Given the description of an element on the screen output the (x, y) to click on. 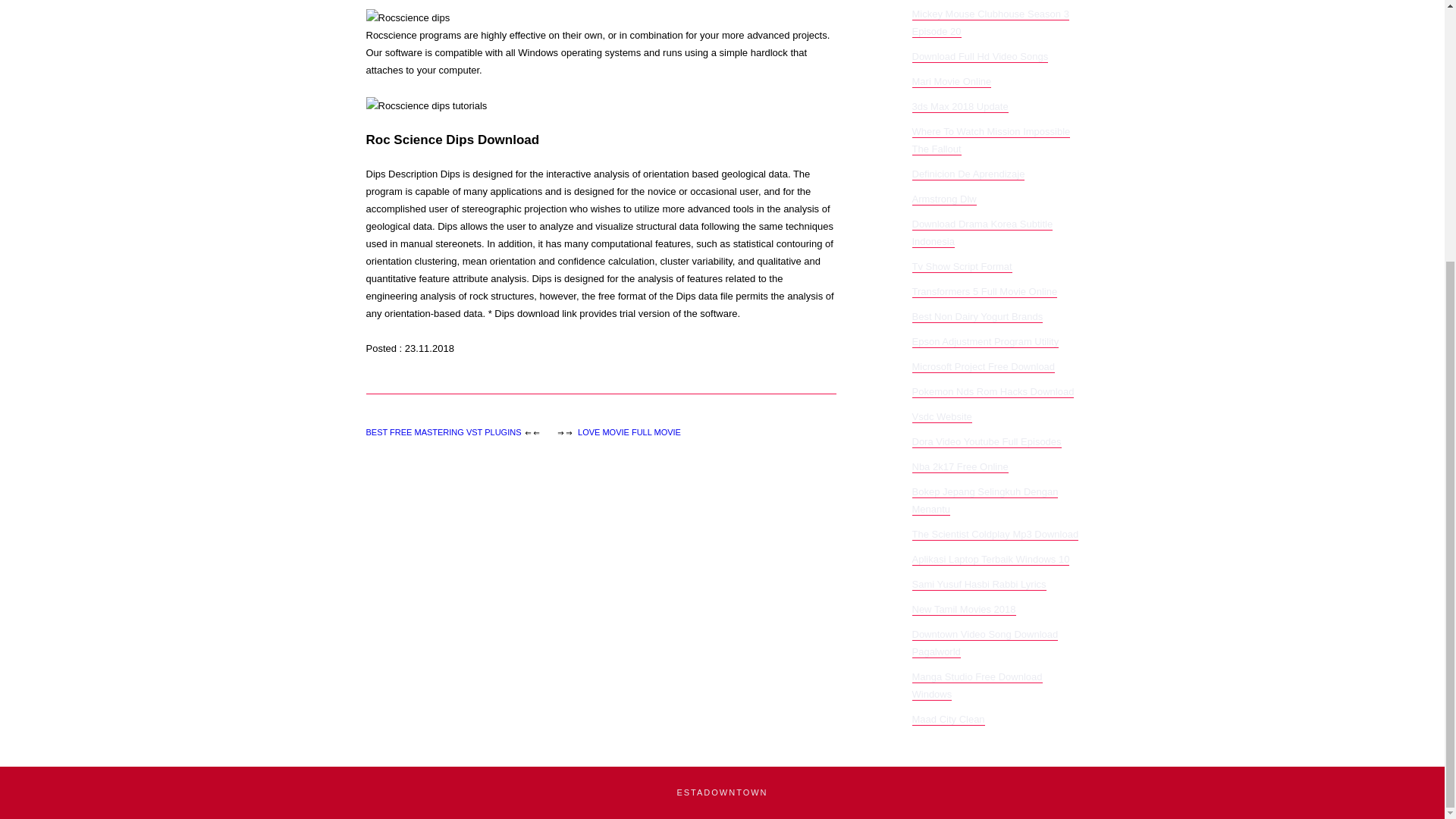
Sami Yusuf Hasbi Rabbi Lyrics (978, 584)
Definicion De Aprendizaje (968, 174)
Best Non Dairy Yogurt Brands (976, 316)
Transformers 5 Full Movie Online (984, 291)
LOVE MOVIE FULL MOVIE (629, 431)
Tv Show Script Format (961, 266)
Rocscience dips (407, 17)
Nba 2k17 Free Online (959, 467)
Manga Studio Free Download Windows (976, 685)
Download Full Hd Video Songs (979, 56)
New Tamil Movies 2018 (962, 609)
Mari Movie Online (951, 81)
Pokemon Nds Rom Hacks Download (992, 391)
Maad City Clean (947, 719)
Mickey Mouse Clubhouse Season 3 Episode 20 (989, 22)
